Given the description of an element on the screen output the (x, y) to click on. 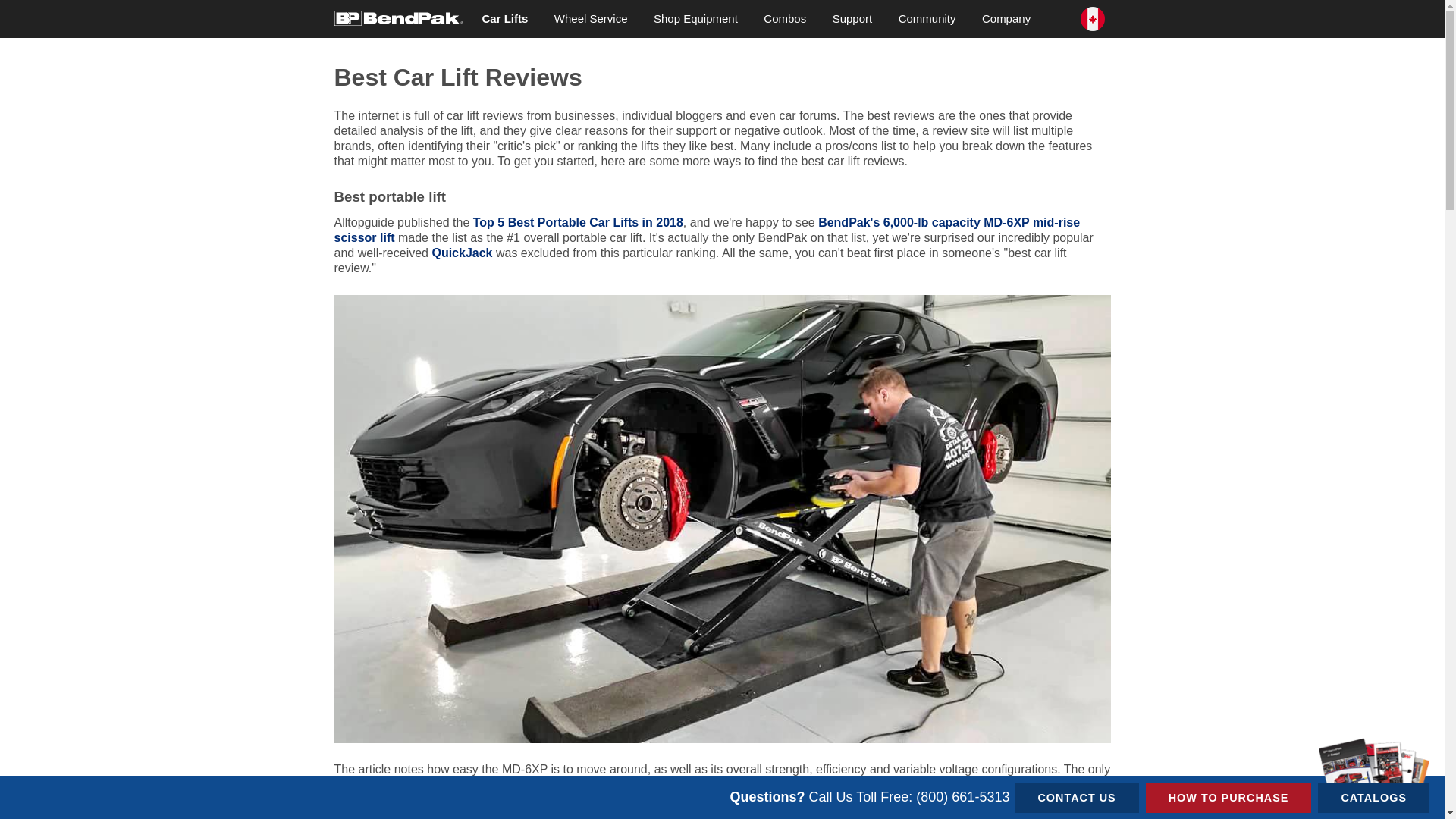
Car Lifts (504, 18)
BendPak (398, 17)
Wheel Service (591, 18)
on (338, 4)
Shop Equipment (695, 18)
